Given the description of an element on the screen output the (x, y) to click on. 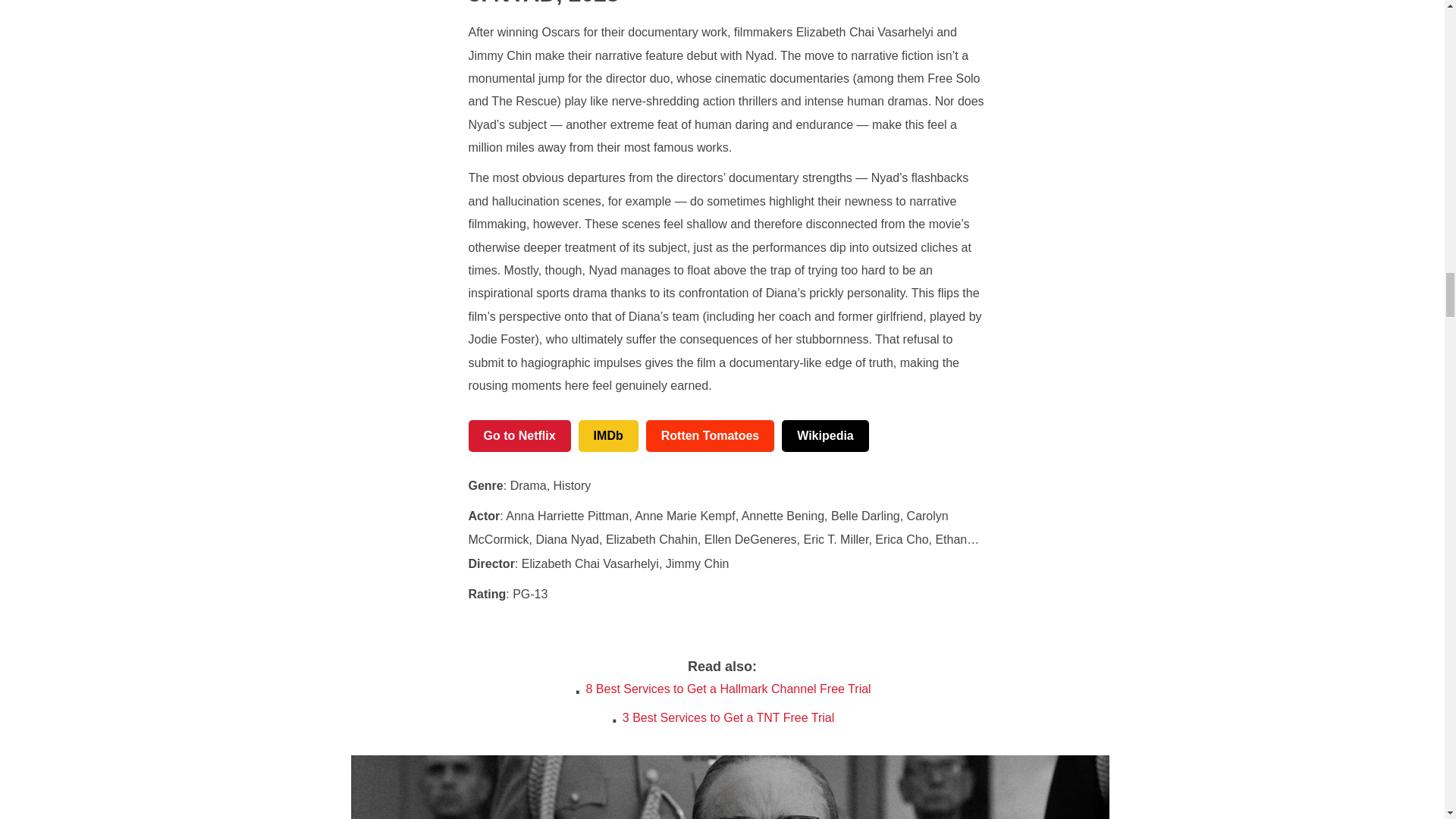
NYAD (512, 2)
